Given the description of an element on the screen output the (x, y) to click on. 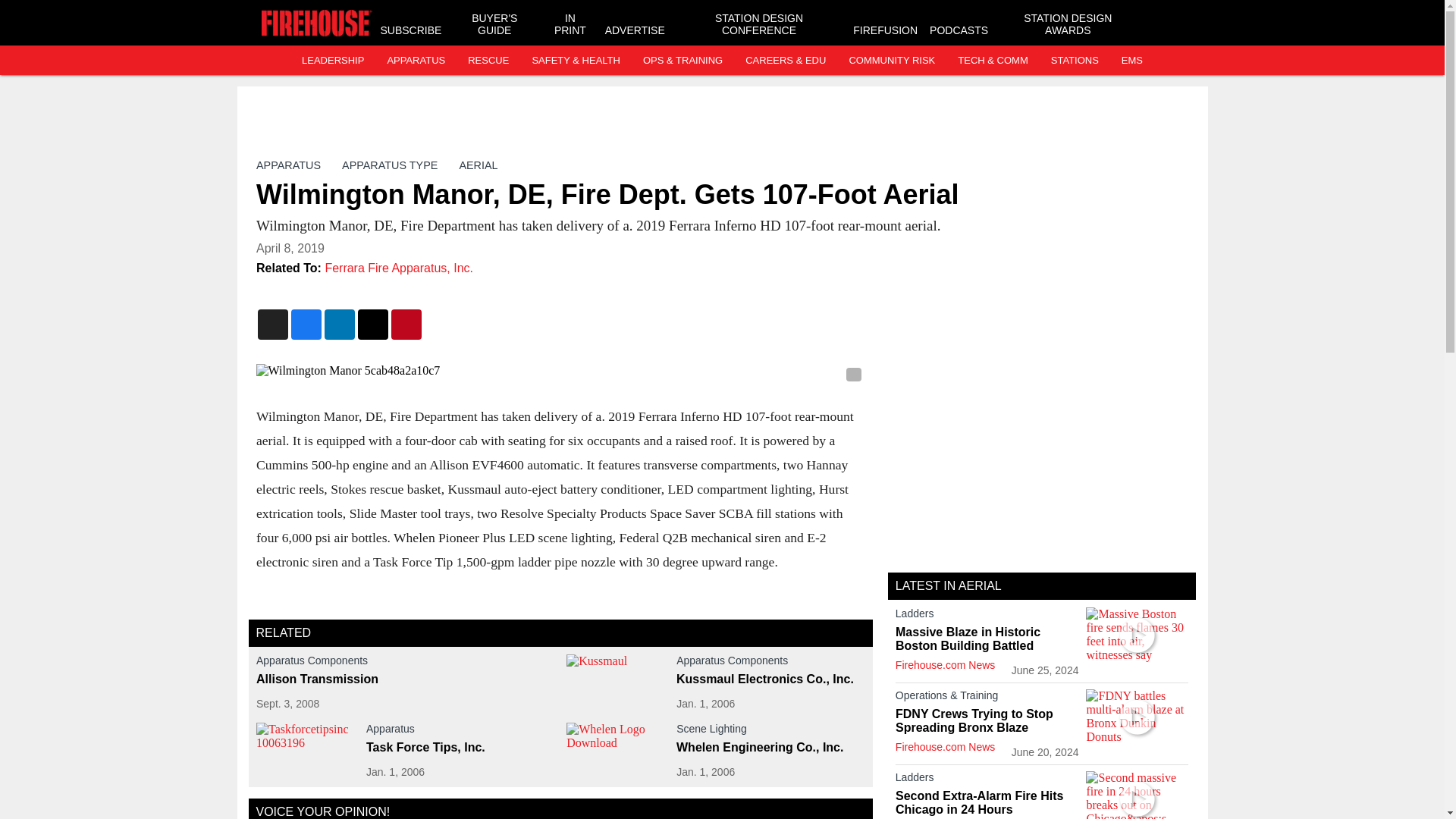
ADVERTISE (635, 30)
Allison Transmission (405, 679)
LEADERSHIP (332, 60)
APPARATUS TYPE (390, 164)
Task Force Tips, Inc. (459, 747)
SUBSCRIBE (411, 30)
Wilmington Manor 5cab48a2a10c7 (560, 370)
Whelen Logo Download (617, 750)
COMMUNITY RISK (891, 60)
APPARATUS (416, 60)
Whelen Engineering Co., Inc. (770, 747)
EMS (1131, 60)
APPARATUS (288, 164)
BUYER'S GUIDE (493, 24)
AERIAL (477, 164)
